Given the description of an element on the screen output the (x, y) to click on. 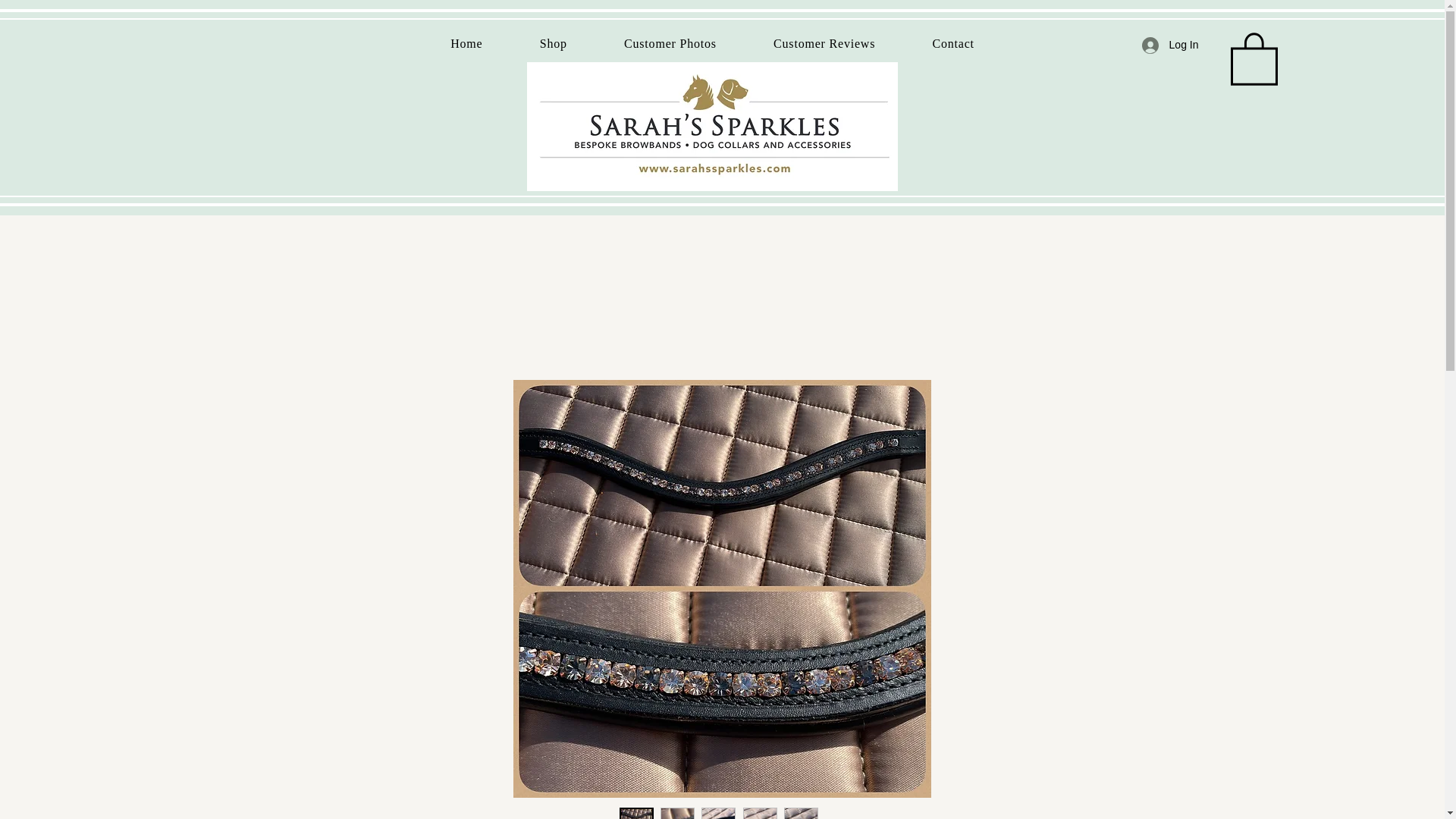
Customer Reviews (823, 43)
Contact (953, 43)
Home (466, 43)
Customer Photos (669, 43)
Log In (1170, 44)
Shop (552, 43)
